Given the description of an element on the screen output the (x, y) to click on. 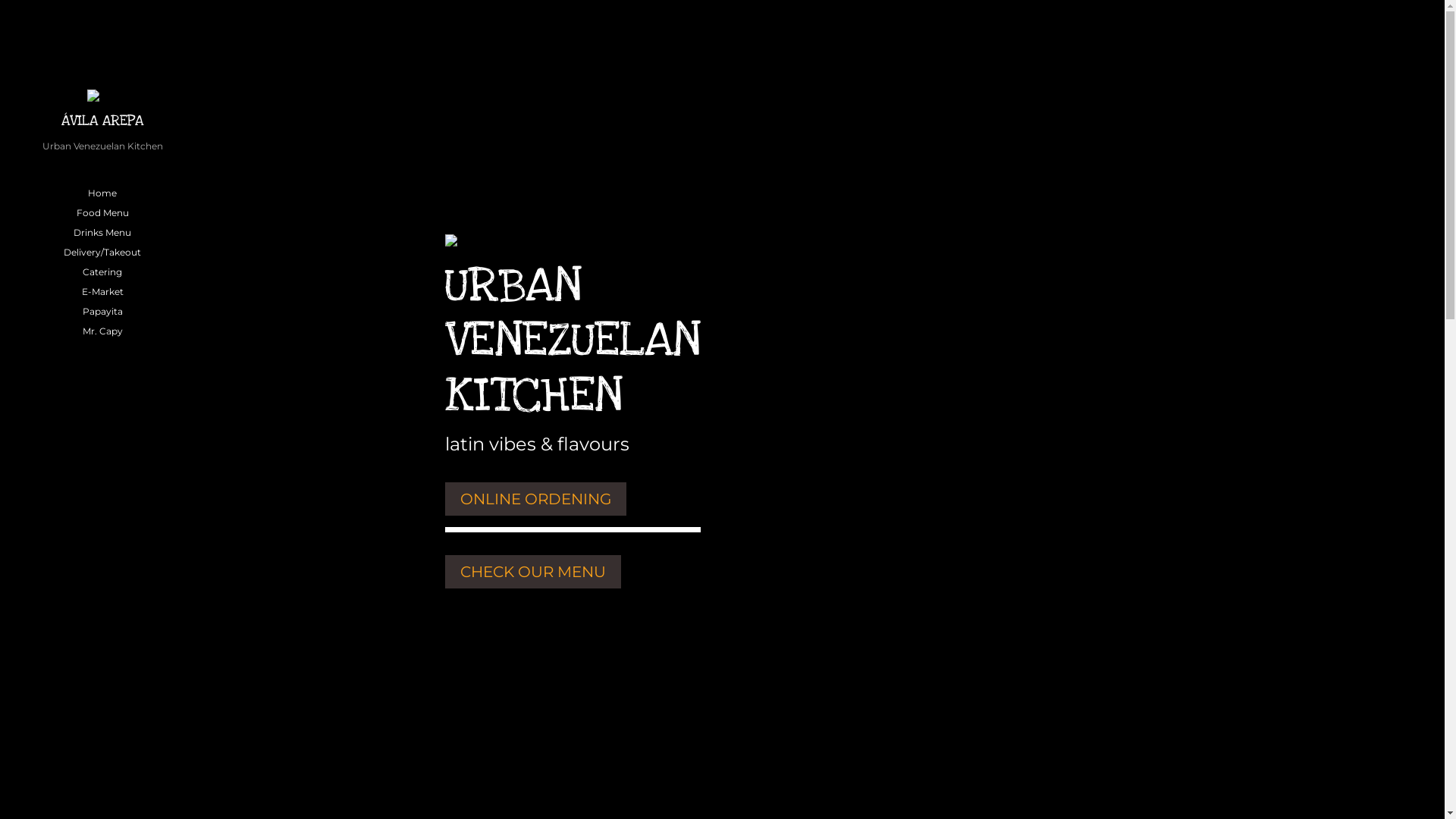
Papayita Element type: text (102, 311)
Drinks Menu Element type: text (102, 232)
Mr. Capy Element type: text (102, 331)
Delivery/Takeout Element type: text (102, 252)
Catering Element type: text (102, 272)
E-Market Element type: text (102, 291)
Food Menu Element type: text (102, 212)
Home Element type: text (102, 193)
